Given the description of an element on the screen output the (x, y) to click on. 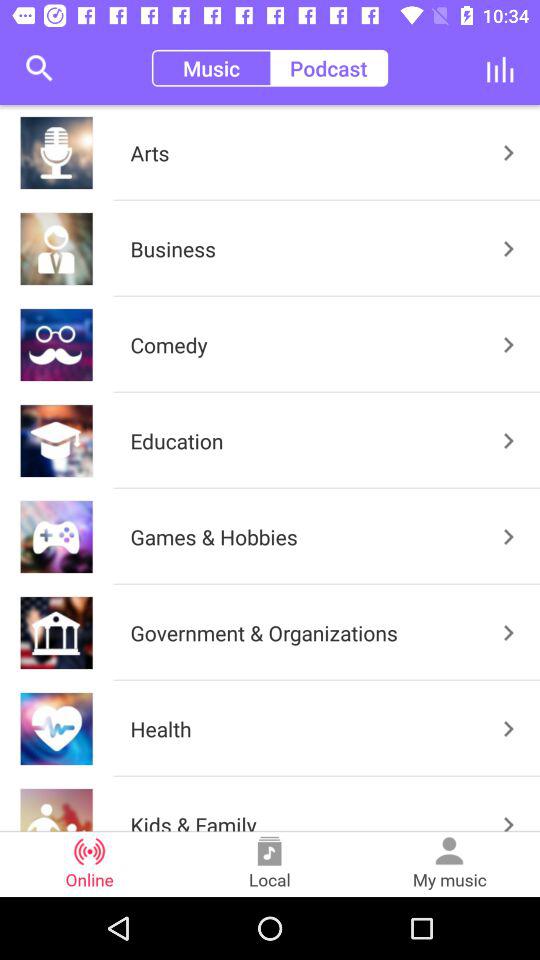
scroll until the my music (450, 863)
